Given the description of an element on the screen output the (x, y) to click on. 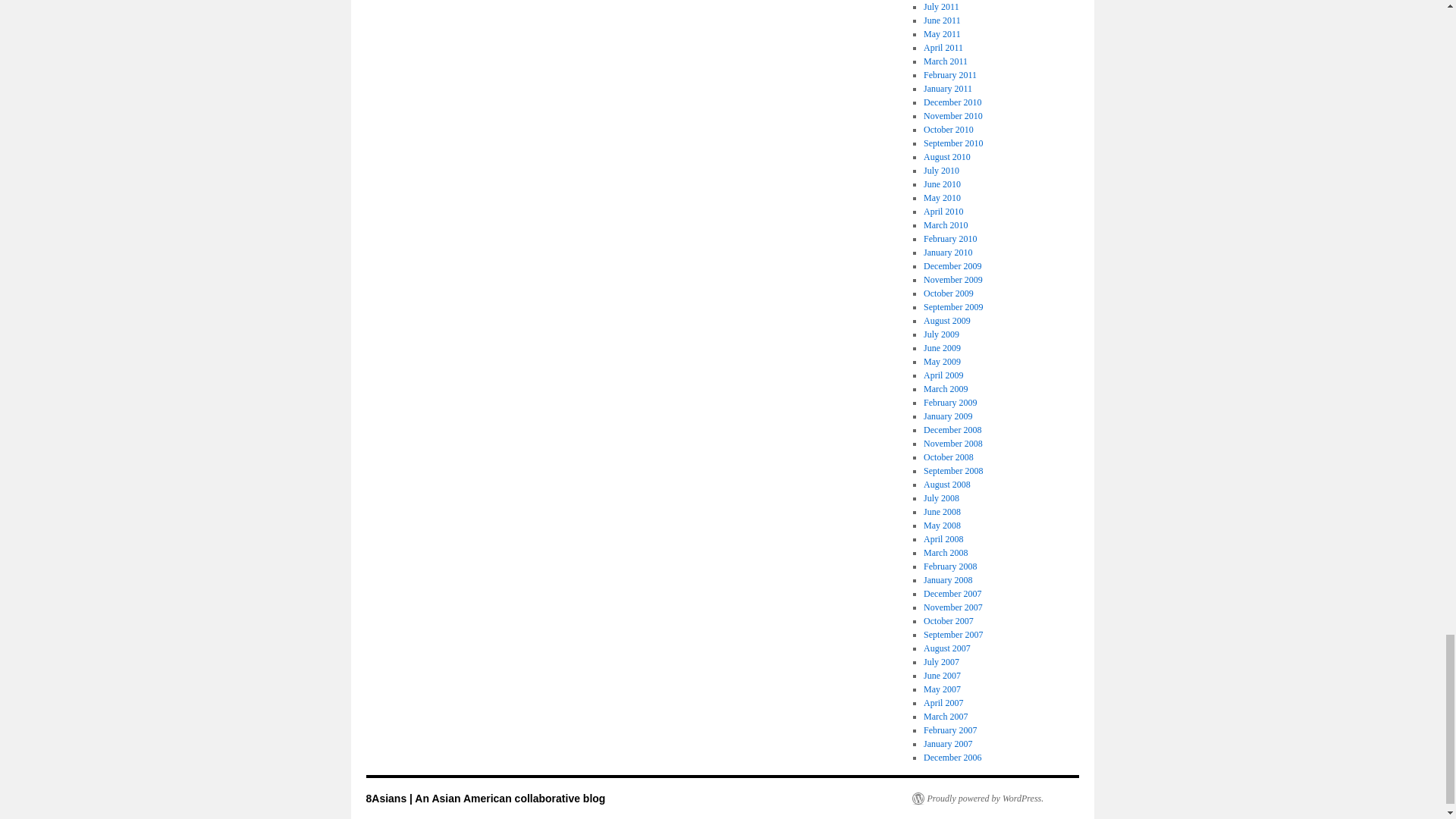
Semantic Personal Publishing Platform (977, 798)
